Given the description of an element on the screen output the (x, y) to click on. 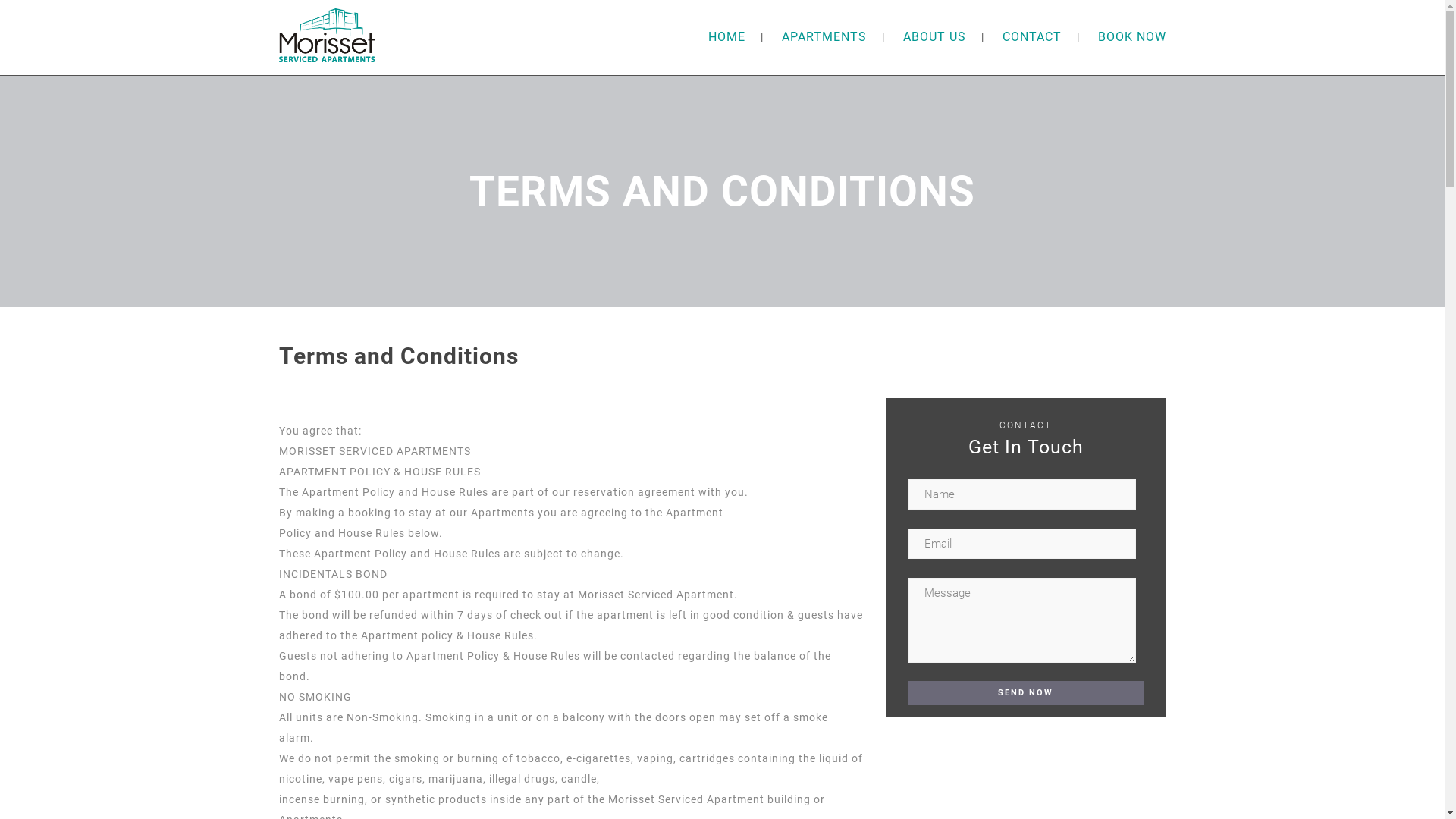
HOME Element type: text (726, 36)
ABOUT US Element type: text (933, 36)
CONTACT Element type: text (1031, 36)
APARTMENTS Element type: text (823, 36)
SEND NOW Element type: text (1025, 692)
BOOK NOW Element type: text (1132, 36)
